Given the description of an element on the screen output the (x, y) to click on. 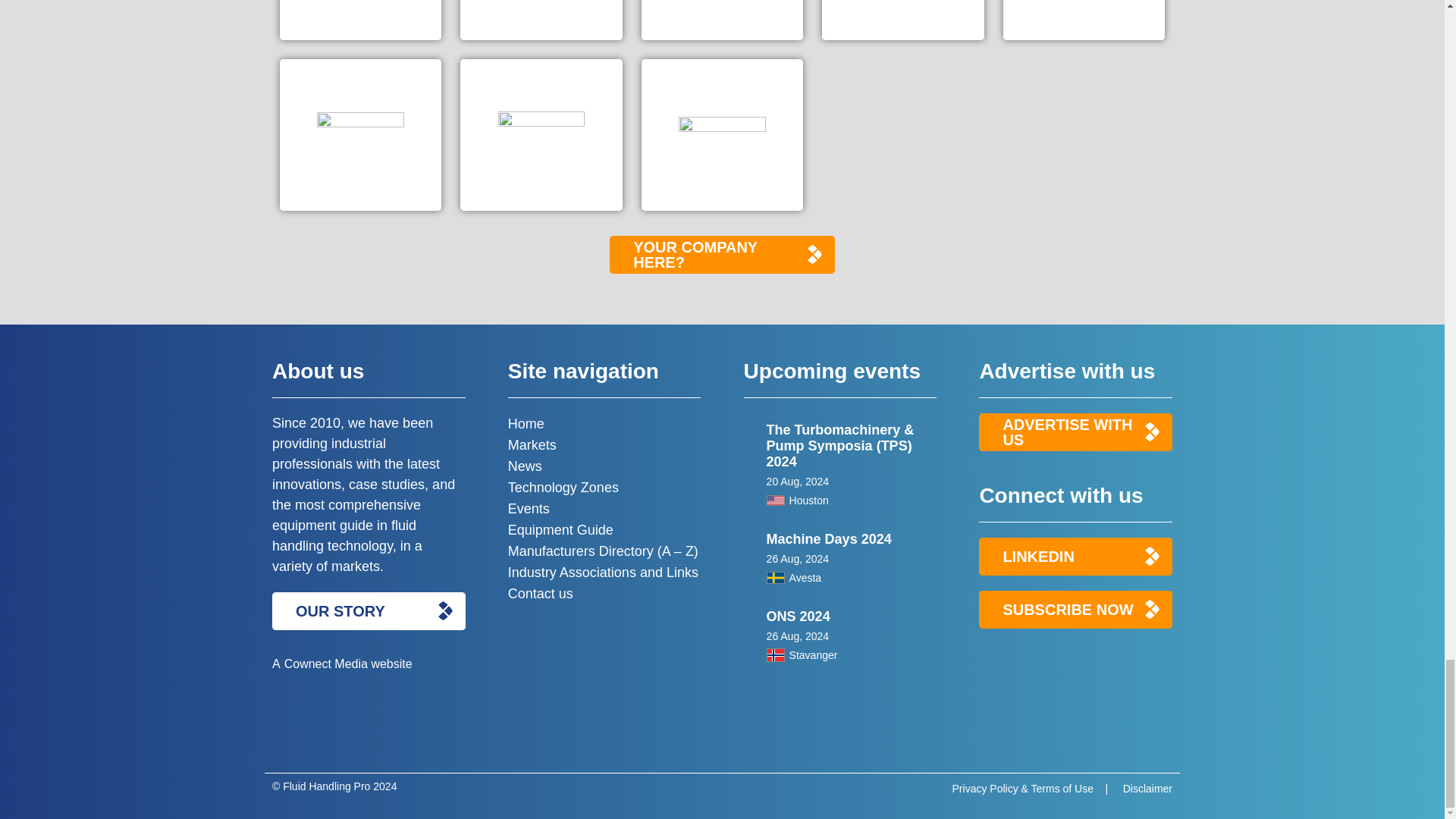
Norway (775, 654)
Sweden (775, 577)
United States (775, 500)
